Given the description of an element on the screen output the (x, y) to click on. 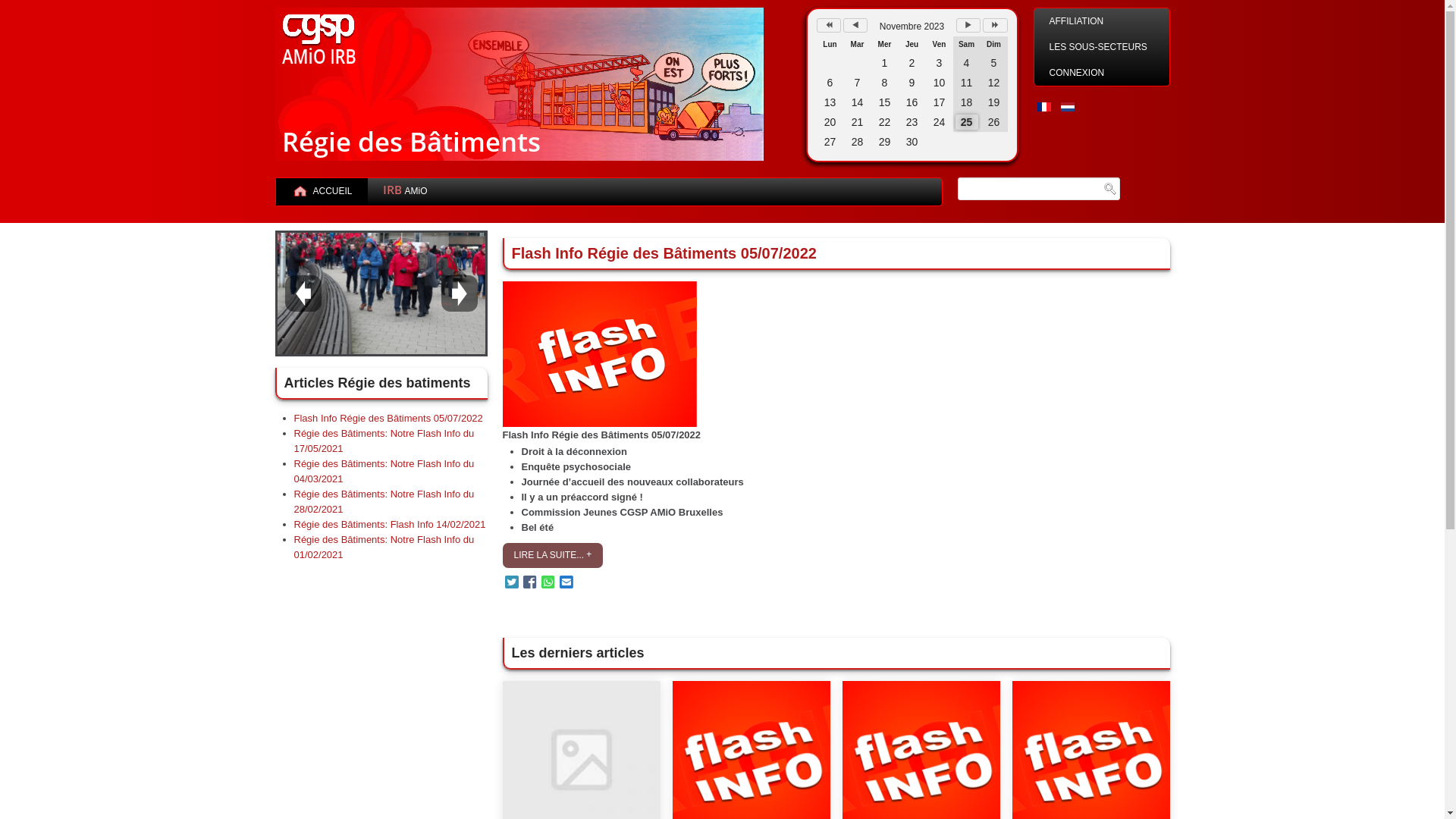
LES SOUS-SECTEURS Element type: text (1101, 46)
CONNEXION Element type: text (1101, 72)
LIRE LA SUITE... Element type: text (549, 554)
AMiO Element type: text (404, 191)
AFFILIATION Element type: text (1101, 21)
Nederlands (nl-NL) Element type: hover (1067, 106)
ACCUEIL Element type: text (321, 191)
